Given the description of an element on the screen output the (x, y) to click on. 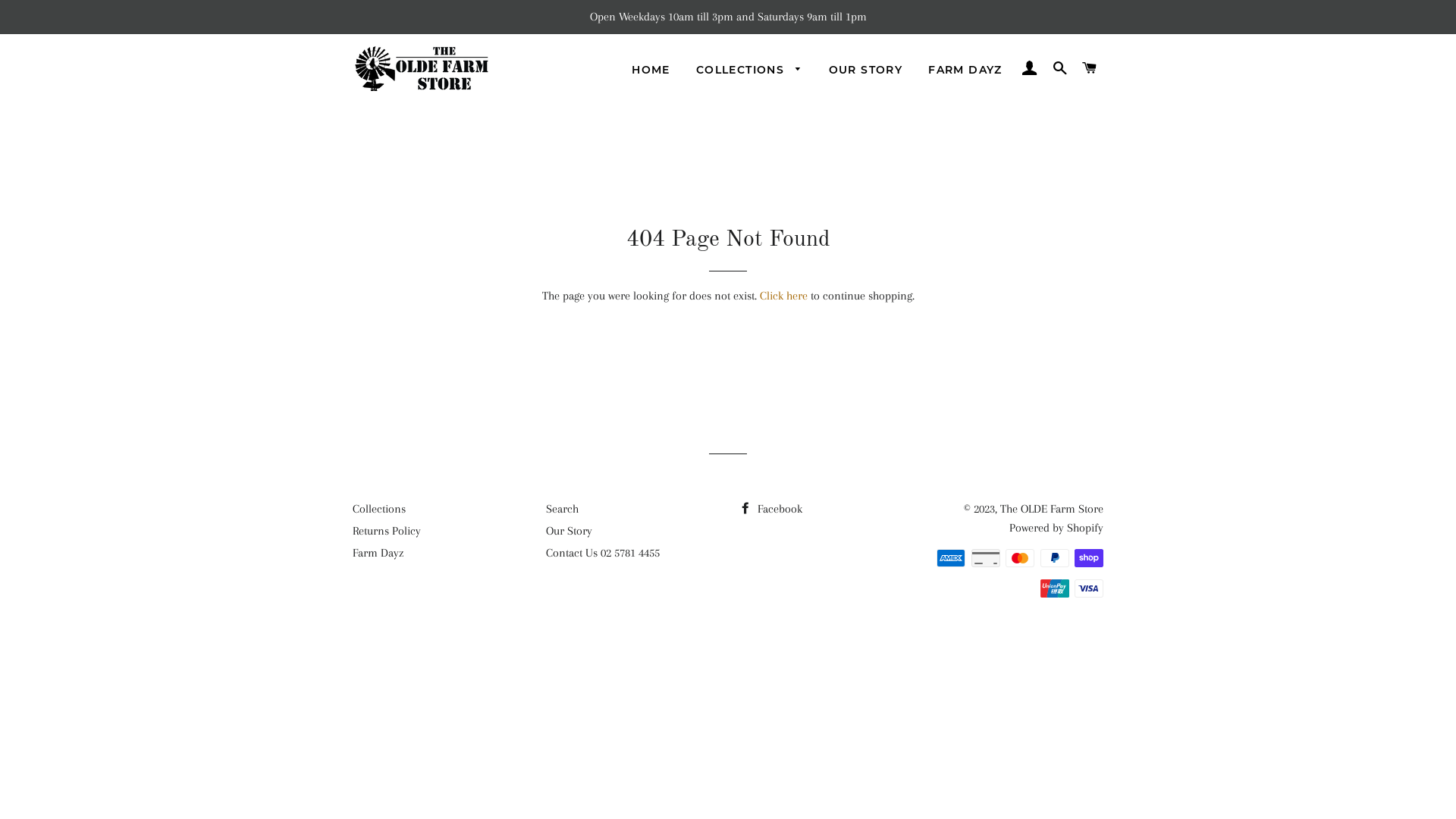
Search Element type: text (562, 508)
COLLECTIONS Element type: text (749, 70)
OUR STORY Element type: text (865, 70)
SEARCH Element type: text (1059, 68)
HOME Element type: text (650, 70)
The OLDE Farm Store Element type: text (1051, 508)
Our Story Element type: text (569, 530)
Facebook Element type: text (770, 508)
FARM DAYZ Element type: text (964, 70)
LOG IN Element type: text (1029, 68)
Farm Dayz Element type: text (377, 552)
Click here Element type: text (783, 295)
CART Element type: text (1089, 68)
Contact Us 02 5781 4455 Element type: text (602, 552)
Returns Policy Element type: text (386, 530)
Collections Element type: text (378, 508)
Powered by Shopify Element type: text (1056, 527)
